Given the description of an element on the screen output the (x, y) to click on. 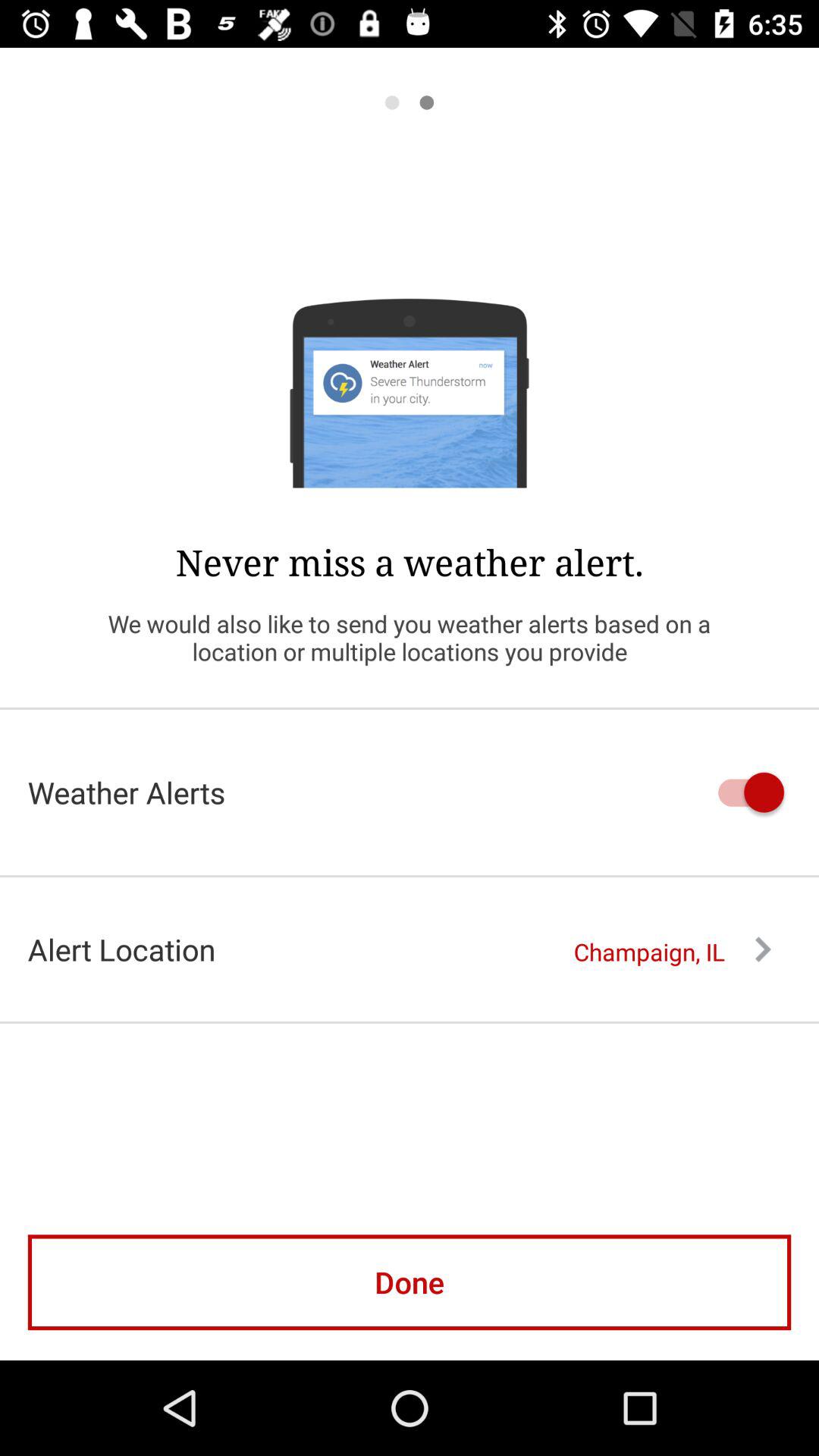
turn on done (409, 1282)
